Given the description of an element on the screen output the (x, y) to click on. 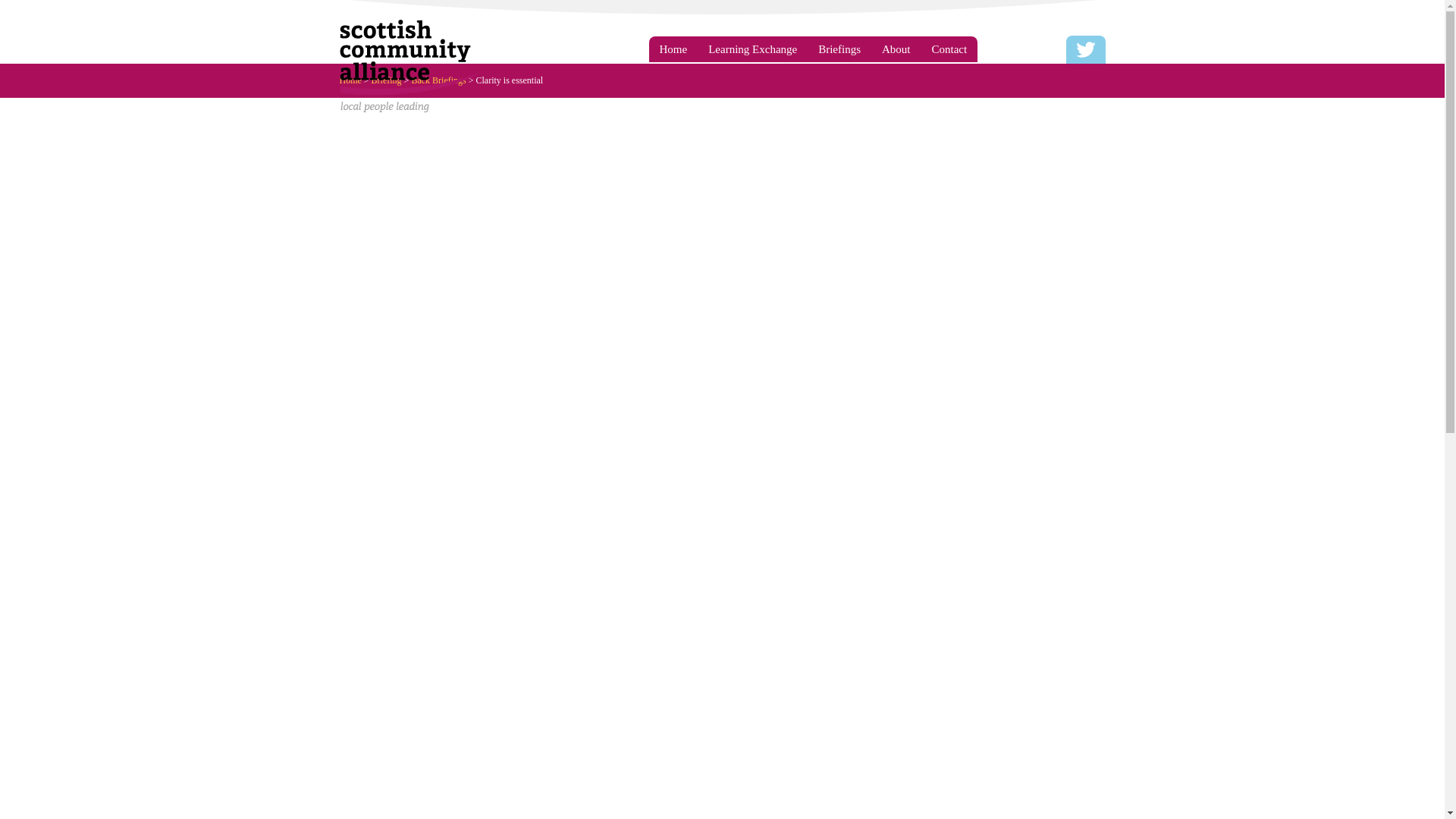
Briefing (391, 80)
Learning Exchange (752, 49)
About (895, 49)
Go to Back Briefings. (443, 80)
Briefings (839, 49)
Go to Scottish Community Alliance. (355, 80)
Home (355, 80)
Home (673, 49)
Go to Briefing. (391, 80)
Contact (949, 49)
